Given the description of an element on the screen output the (x, y) to click on. 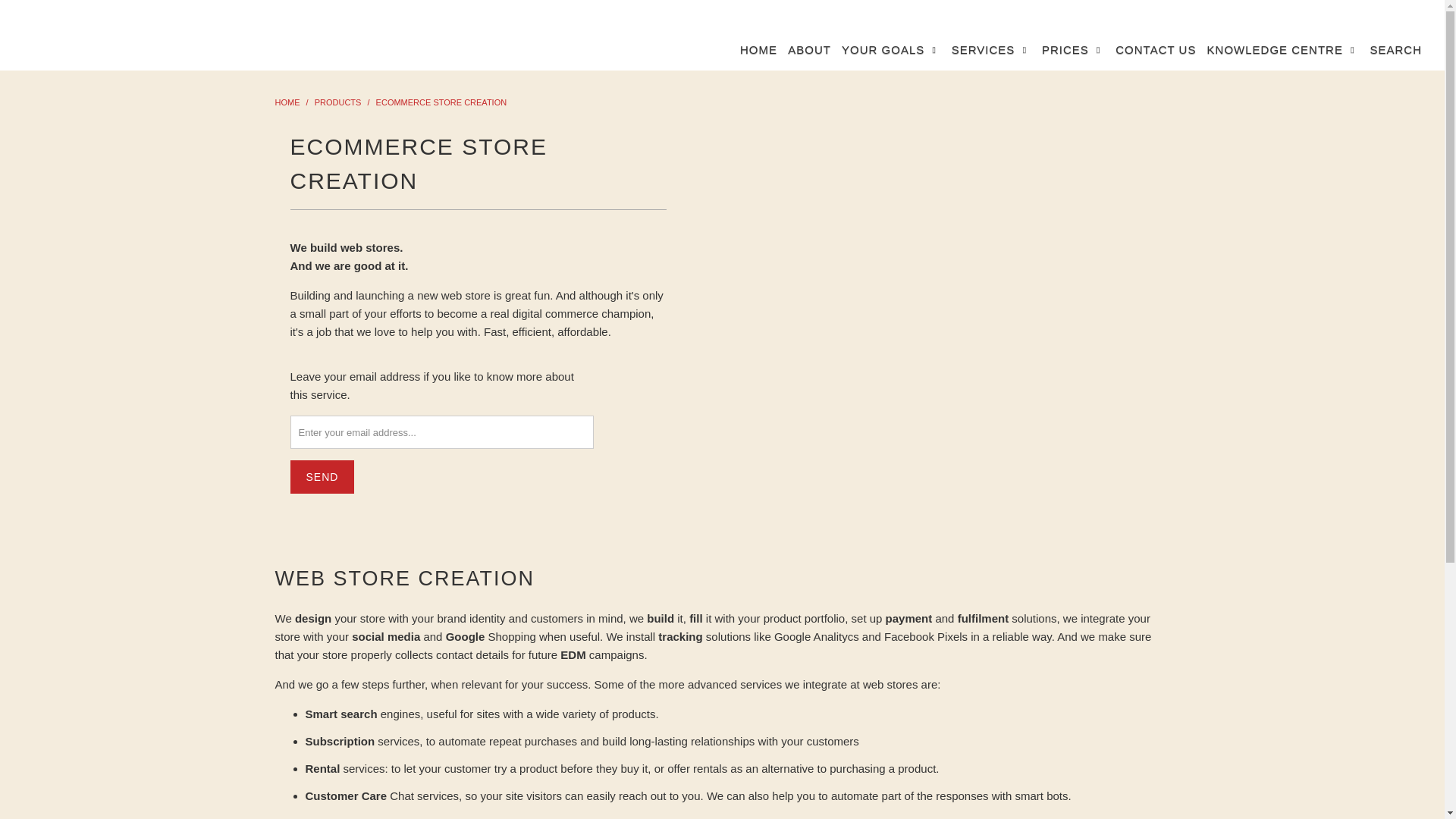
Products (337, 102)
YOUR GOALS (890, 49)
HOME (758, 49)
ABOUT (809, 49)
Digital Pepper Asia (287, 102)
SERVICES (991, 49)
Send (321, 476)
